Given the description of an element on the screen output the (x, y) to click on. 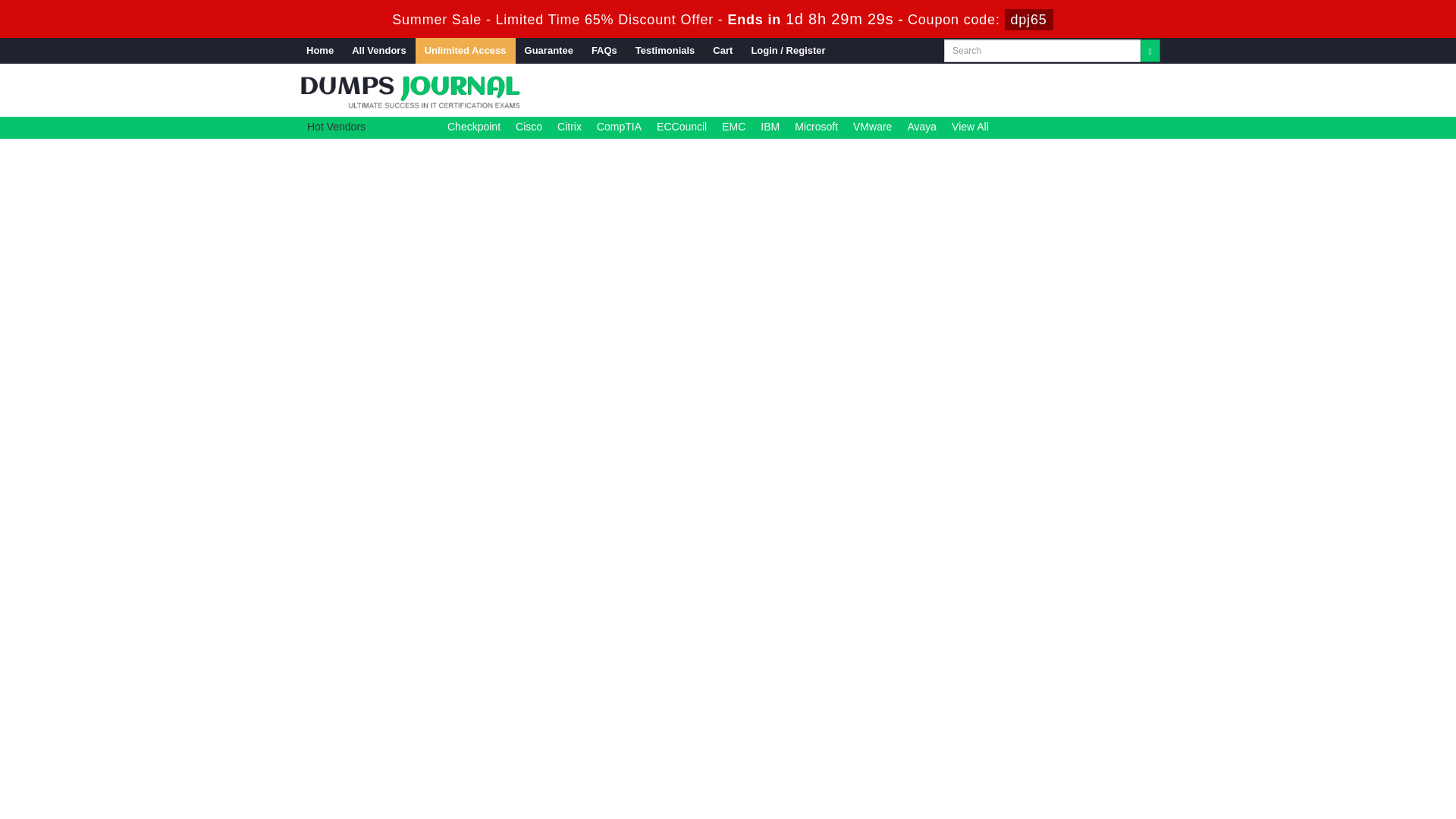
Checkpoint (473, 126)
Cart (722, 50)
View All (970, 126)
EMC (733, 126)
Microsoft (816, 126)
Avaya (921, 126)
Unlimited Access (464, 50)
Testimonials (665, 50)
ECCouncil (681, 126)
Guarantee (548, 50)
VMware (872, 126)
Citrix (568, 126)
All Vendors (378, 50)
Cisco (528, 126)
Avaya (921, 126)
